Given the description of an element on the screen output the (x, y) to click on. 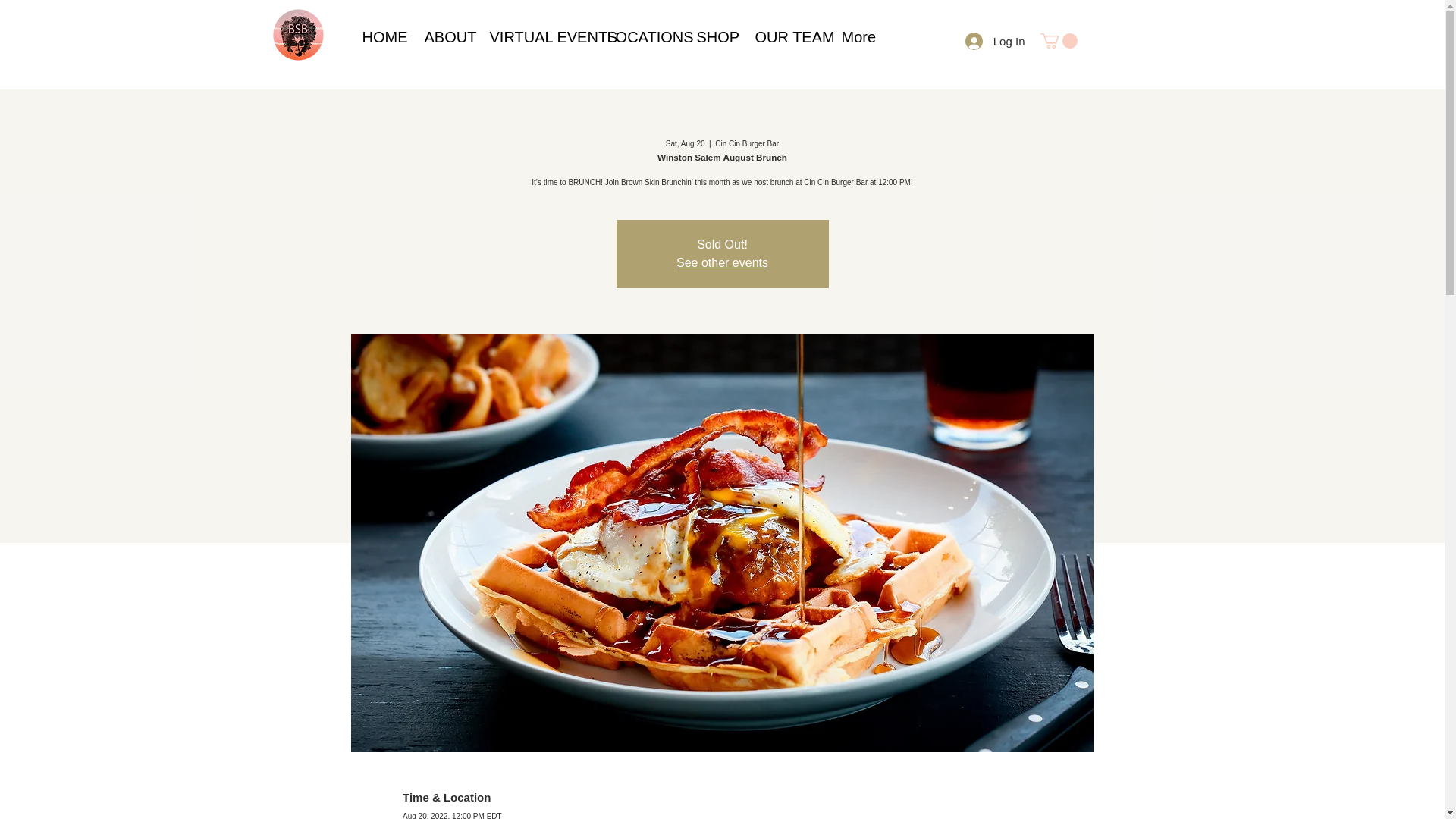
Log In (995, 40)
OUR TEAM (785, 37)
ABOUT (444, 37)
SHOP (714, 37)
See other events (722, 262)
LOCATIONS (640, 37)
VIRTUAL EVENTS (536, 37)
HOME (381, 37)
